Given the description of an element on the screen output the (x, y) to click on. 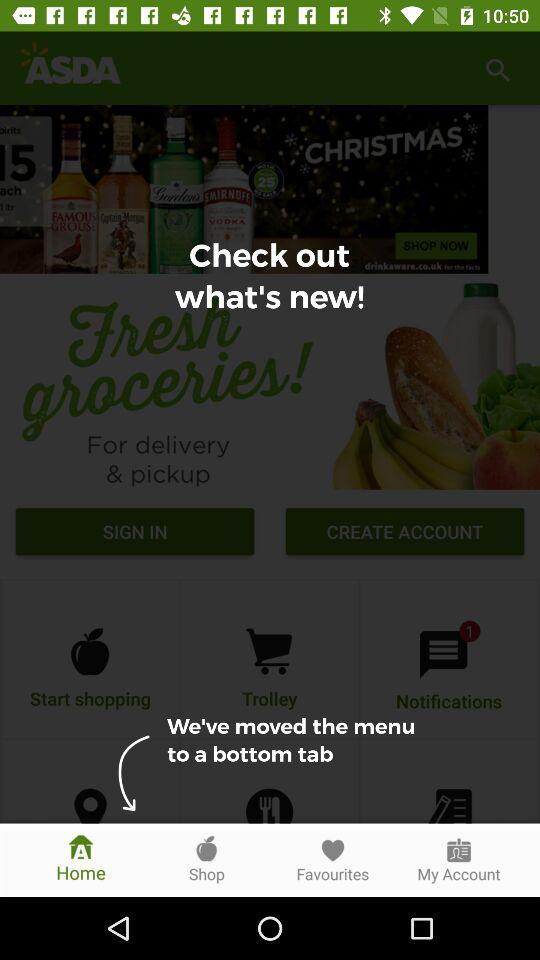
tap sign in icon (134, 534)
